Given the description of an element on the screen output the (x, y) to click on. 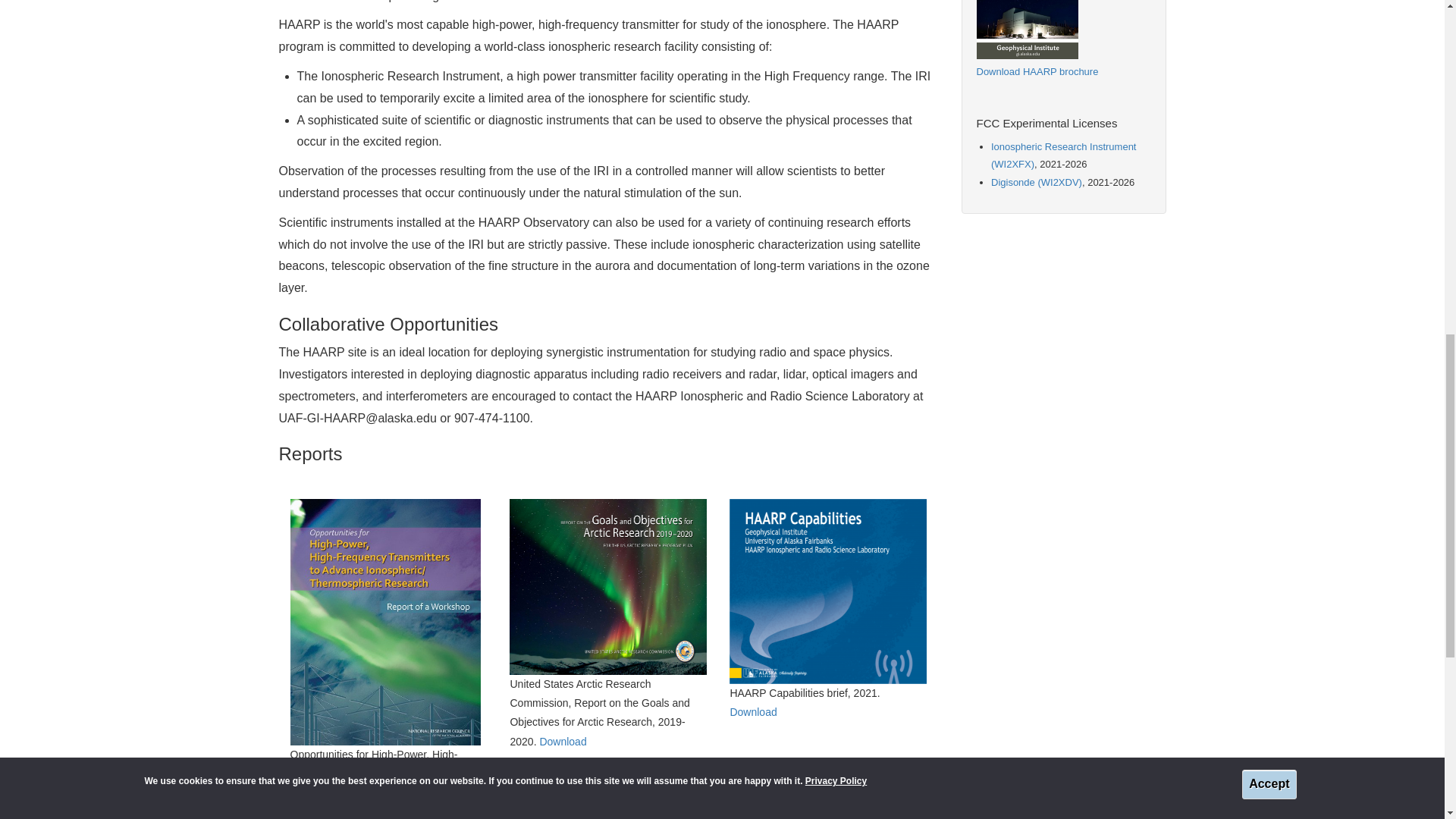
Download HAARP brochure (1037, 71)
Download (752, 711)
Download (562, 741)
